Given the description of an element on the screen output the (x, y) to click on. 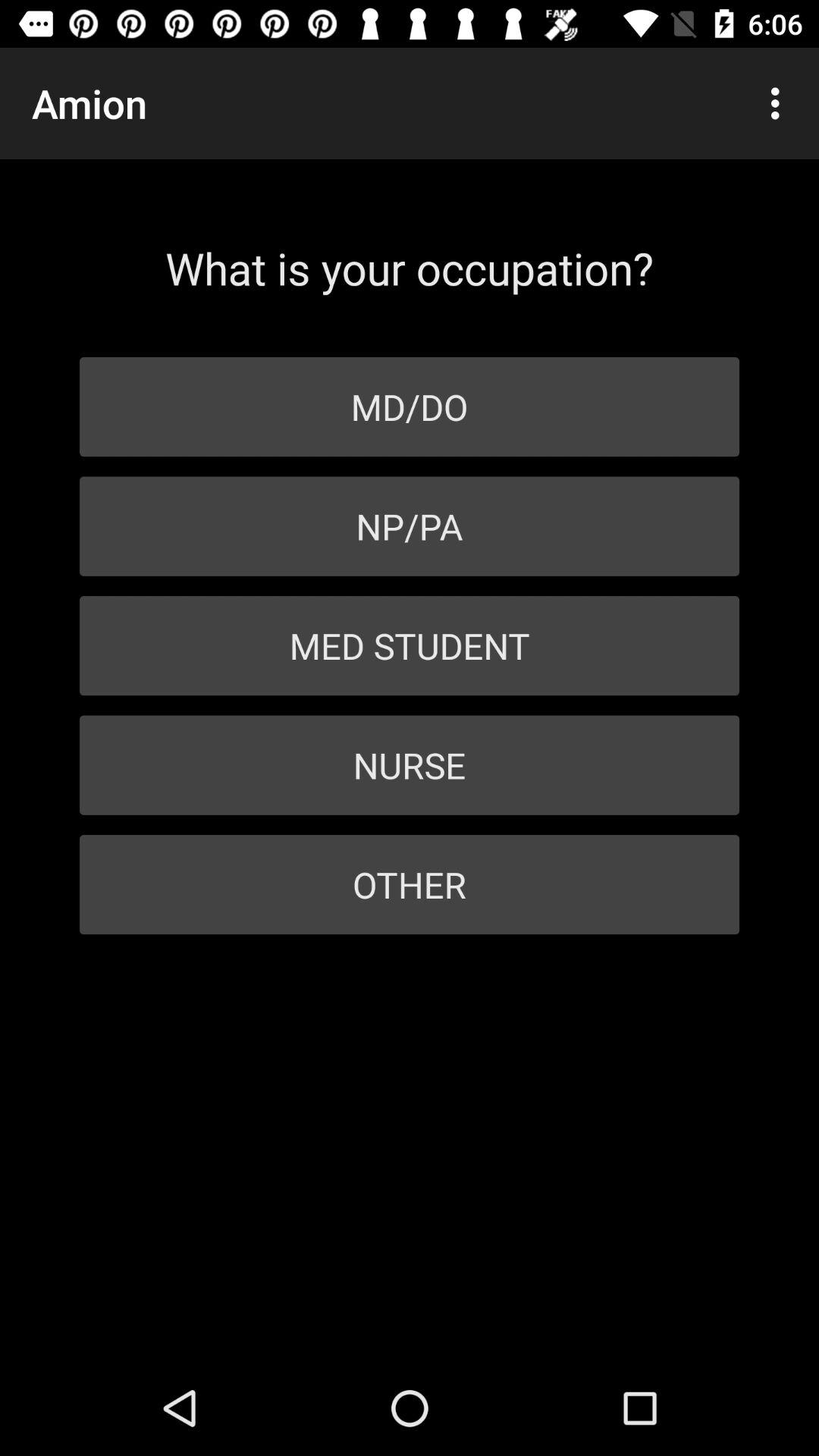
open icon below the med student item (409, 765)
